Given the description of an element on the screen output the (x, y) to click on. 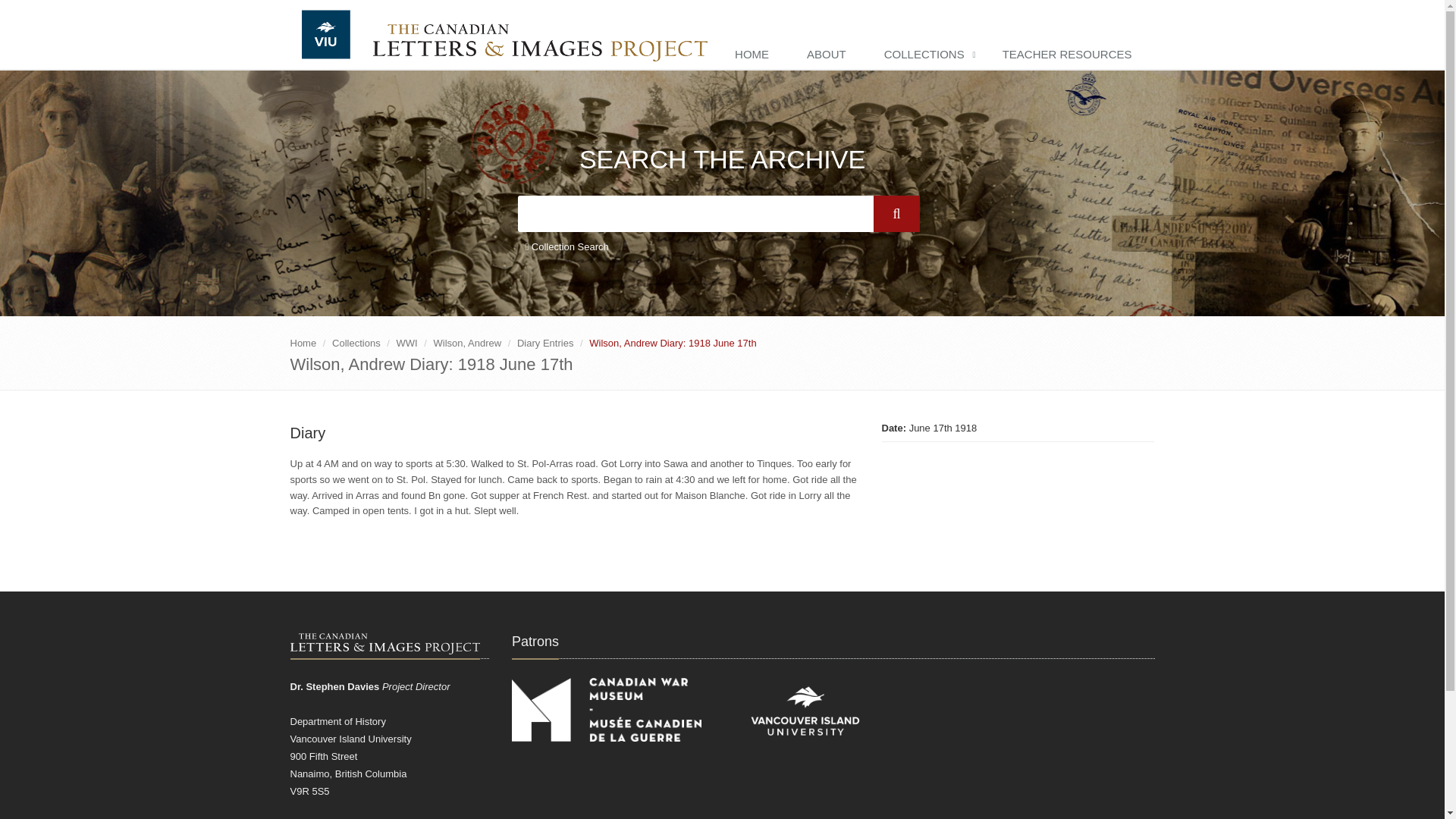
TEACHER RESOURCES (1070, 55)
Enter the terms you wish to search for. (694, 213)
Wilson, Andrew (467, 342)
Home (302, 342)
Diary Entries (544, 342)
HOME (755, 55)
ABOUT (830, 55)
COLLECTIONS (928, 55)
WWI (406, 342)
Collection Search (566, 247)
